Given the description of an element on the screen output the (x, y) to click on. 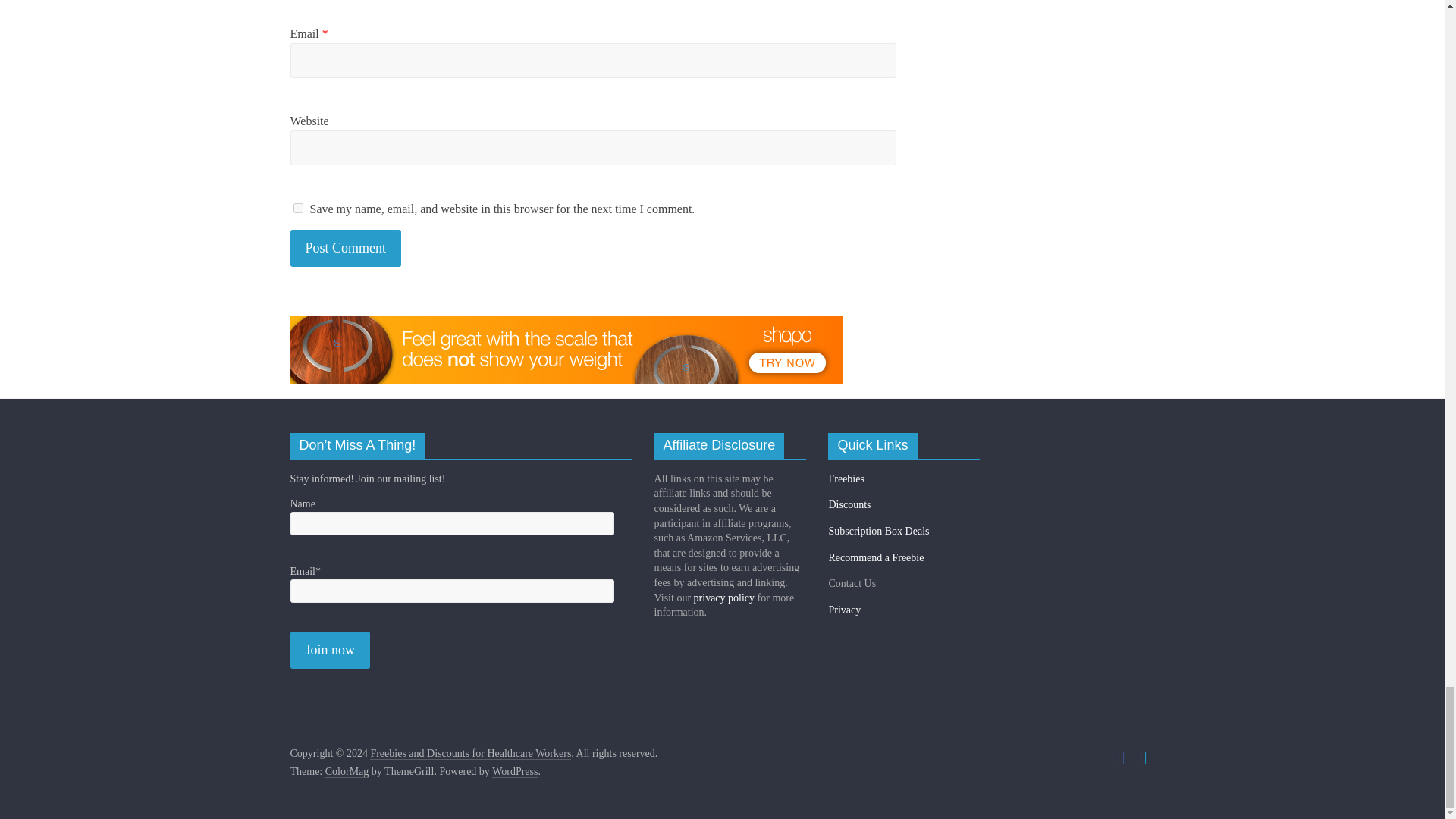
Freebies and Discounts for Healthcare Workers (469, 753)
ColorMag (346, 771)
Post Comment (345, 248)
WordPress (514, 771)
yes (297, 207)
Join now (329, 650)
